Given the description of an element on the screen output the (x, y) to click on. 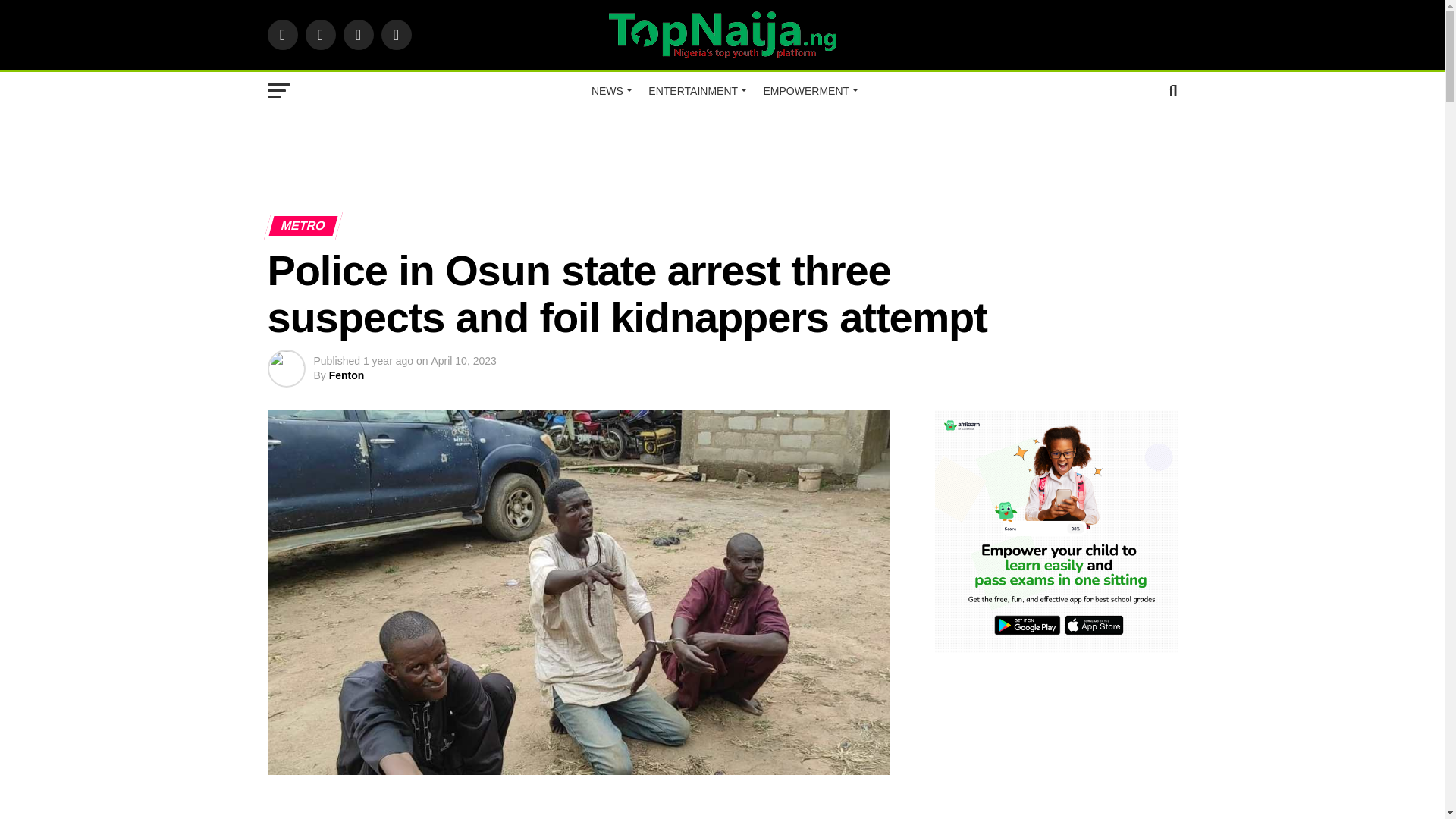
ENTERTAINMENT (695, 90)
Advertisement (721, 156)
EMPOWERMENT (808, 90)
Posts by Fenton (347, 375)
Advertisement (608, 811)
Fenton (347, 375)
NEWS (609, 90)
